Given the description of an element on the screen output the (x, y) to click on. 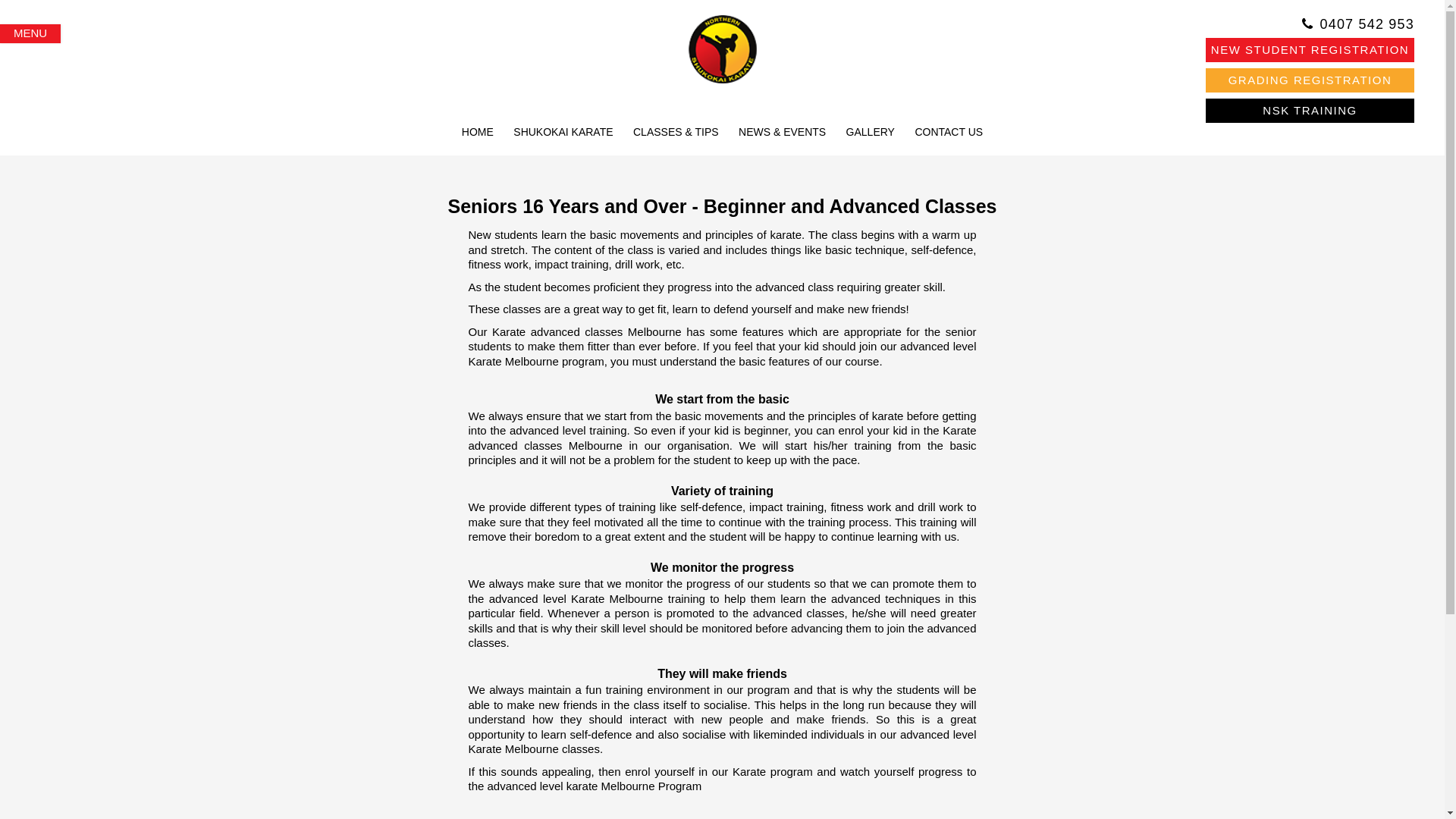
NEWS & EVENTS Element type: text (781, 132)
NSK TRAINING Element type: text (1309, 110)
NEW STUDENT REGISTRATION Element type: text (1309, 49)
0407 542 953 Element type: text (1366, 24)
CLASSES & TIPS Element type: text (675, 132)
SHUKOKAI KARATE Element type: text (562, 132)
GALLERY Element type: text (870, 132)
GRADING REGISTRATION Element type: text (1309, 80)
CONTACT US Element type: text (948, 132)
HOME Element type: text (477, 132)
